Given the description of an element on the screen output the (x, y) to click on. 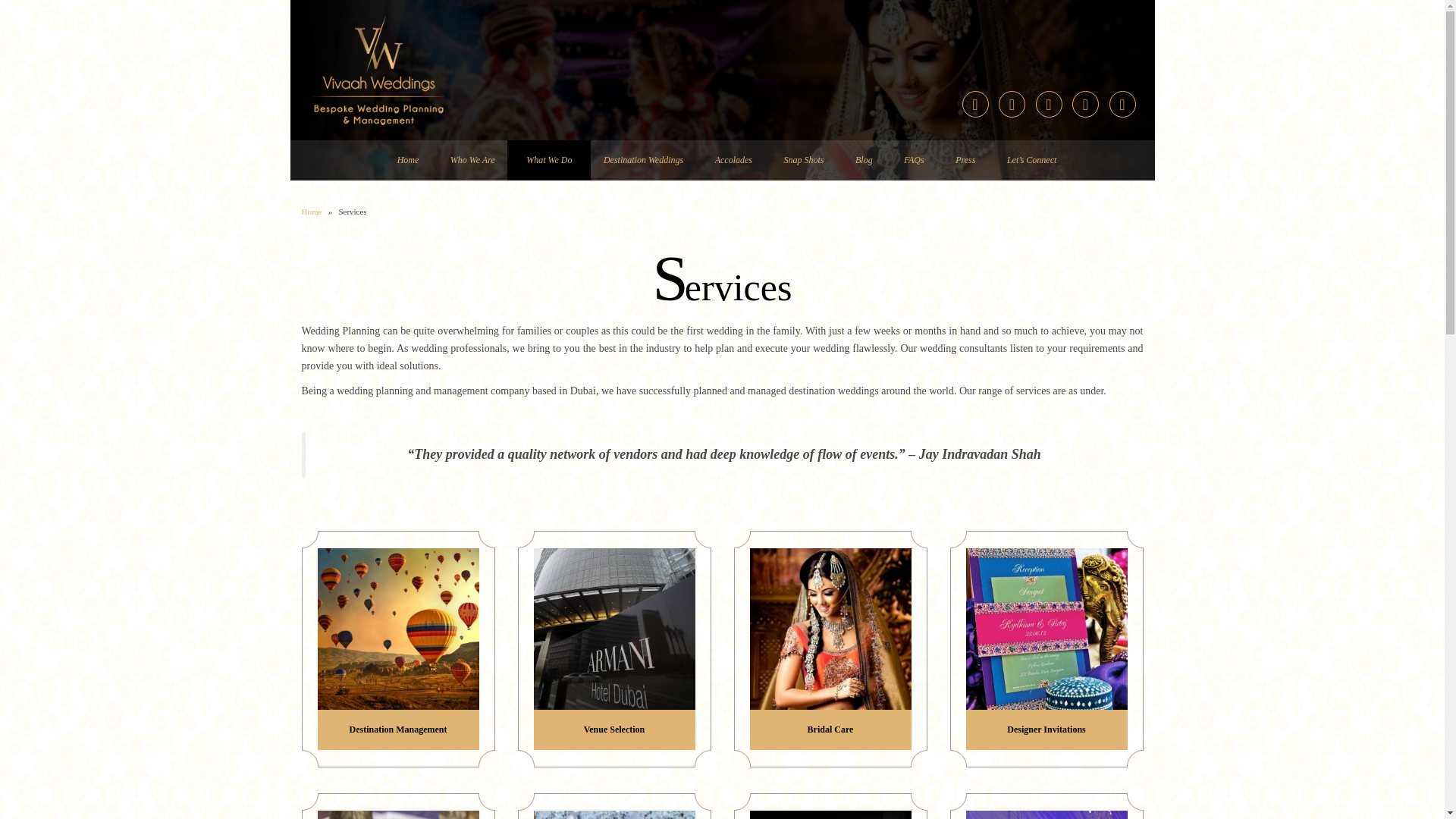
Sangeet Skit Show Direction (830, 814)
Blog (863, 160)
Home (311, 211)
Who We Are (471, 160)
Snap Shots (803, 160)
FAQs (913, 160)
Press (965, 160)
Accolades (733, 160)
Destination Weddings (643, 160)
Home (408, 160)
